Given the description of an element on the screen output the (x, y) to click on. 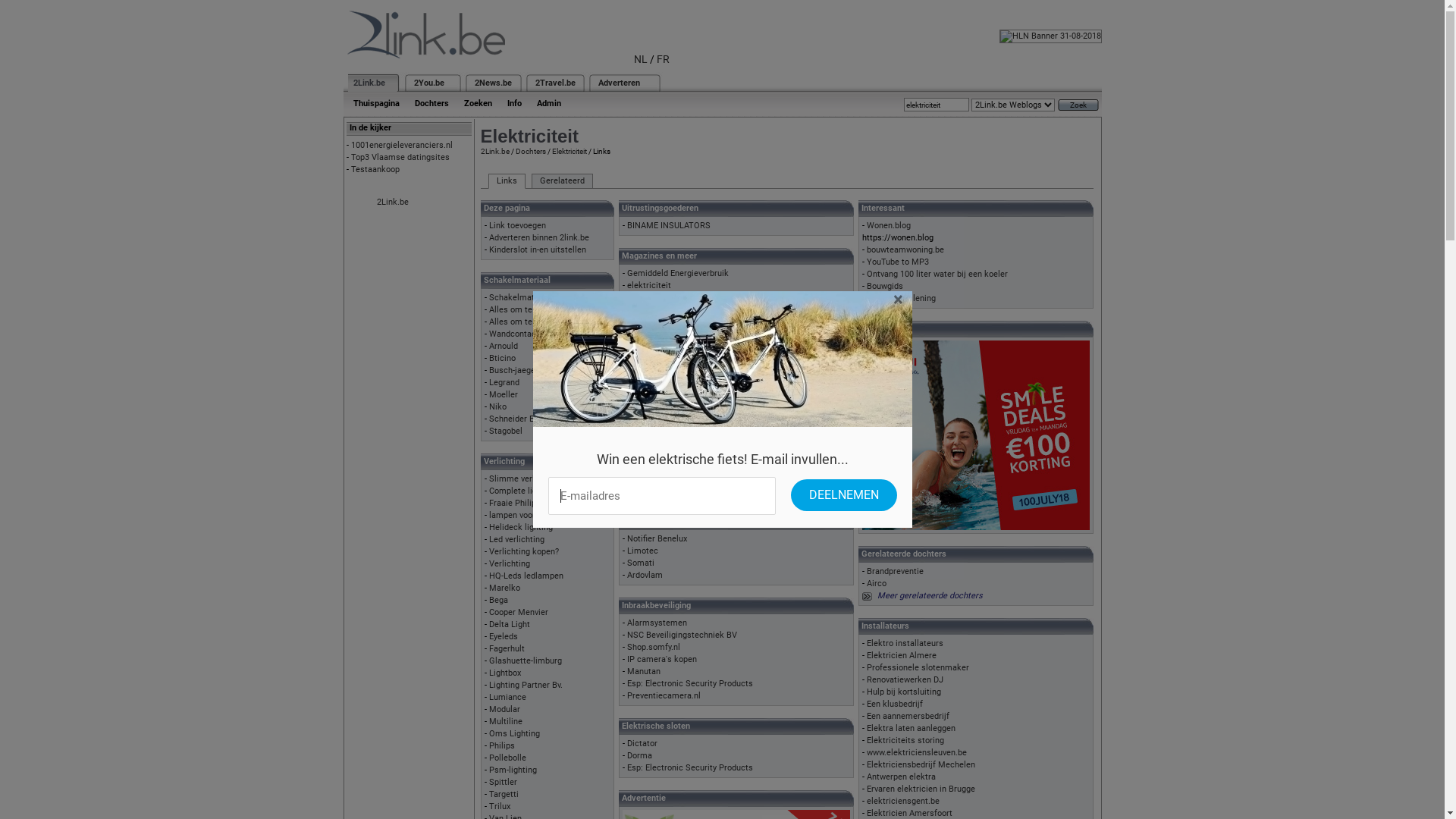
2News.be Element type: text (492, 82)
Dictator Element type: text (641, 743)
Bega Element type: text (497, 600)
2Travel.be Element type: text (555, 82)
Glashuette-limburg Element type: text (524, 660)
Link toevoegen Element type: text (516, 225)
Esp: Electronic Security Products Element type: text (689, 683)
2Link.be Element type: text (494, 151)
Top3 Vlaamse datingsites Element type: text (399, 157)
YouTube to MP3 Element type: text (897, 261)
Fraaie Philips Hue lampen Element type: text (537, 503)
Novy Element type: text (635, 478)
Ardovlam Element type: text (644, 575)
Lumiance Element type: text (506, 697)
Notifier Benelux Element type: text (656, 538)
Multiline Element type: text (504, 721)
Slimme verlichting Element type: text (523, 478)
Adverteren Element type: text (618, 82)
Bticino Element type: text (501, 358)
Cooper Menvier Element type: text (517, 612)
Miele Element type: text (636, 466)
Wasmachinespot.nl Element type: text (663, 369)
Hifi Speakers Element type: text (651, 406)
elektrische bbq Element type: text (655, 418)
Thuispagina Element type: text (376, 103)
2Link.be Element type: text (369, 82)
Philips Element type: text (501, 745)
Airco Element type: text (875, 583)
Bosch Element type: text (637, 454)
Een klusbedrijf Element type: text (894, 704)
Helideck lighting Element type: text (520, 527)
Psm-lighting Element type: text (512, 770)
Testaankoop Element type: text (374, 169)
Shop.somfy.nl Element type: text (652, 647)
Info Element type: text (513, 103)
Elektro.be Element type: text (645, 297)
Antwerpen elektra Element type: text (900, 776)
Renovatiewerken DJ Element type: text (904, 679)
Stagobel Element type: text (504, 431)
Spittler Element type: text (502, 782)
Dochters Element type: text (530, 151)
Elektricien Almere Element type: text (900, 655)
Esp: Electronic Security Products Element type: text (689, 767)
Preventiecamera.nl Element type: text (662, 695)
Zoeken Element type: text (477, 103)
bouwteamwoning.be Element type: text (904, 249)
Pollebolle Element type: text (506, 757)
Targetti Element type: text (502, 794)
Elektuur Element type: text (641, 309)
Trilux Element type: text (498, 806)
BINAME INSULATORS Element type: text (667, 225)
Professionele slotenmaker Element type: text (917, 667)
Wonen.blog Element type: text (888, 225)
lampen voor onder overkapping Element type: text (546, 515)
Elektriciensbedrijf Mechelen Element type: text (920, 764)
www.elektriciensleuven.be Element type: text (916, 752)
Alarmsystemen Element type: text (656, 622)
Verlichting kopen? Element type: text (523, 551)
Adverteren binnen 2link.be Element type: text (538, 237)
Bouwgids Element type: text (884, 286)
Dochters Element type: text (430, 103)
Wandcontactdozen met USB Element type: text (542, 333)
Marelko Element type: text (503, 588)
2Link.be Element type: text (391, 202)
Schneider Electric Element type: text (522, 418)
Ontvang 100 liter water bij een koeler Element type: text (936, 274)
Modular Element type: text (503, 709)
Manutan Element type: text (642, 671)
Schakelmateriaal bestellen Element type: text (540, 297)
Smeg Element type: text (637, 490)
Elektriciteit Element type: text (569, 151)
Elektricien Amersfoort Element type: text (908, 813)
Brandpreventie Element type: text (894, 571)
Fagerhult Element type: text (506, 648)
Aeg Electrolux Element type: text (653, 442)
Zoek Element type: text (1077, 103)
Best gekozen elektronica Element type: text (673, 357)
Delta Light Element type: text (508, 624)
Admin Element type: text (548, 103)
Gerelateerd Element type: text (561, 180)
IP camera's kopen Element type: text (661, 659)
HQ-Leds ledlampen Element type: text (525, 575)
Eyeleds Element type: text (502, 636)
Elektriciteits storing Element type: text (904, 740)
Arnould Element type: text (502, 346)
NSC Beveiligingstechniek BV Element type: text (681, 635)
Niko Element type: text (496, 406)
Hulp bij kortsluiting Element type: text (903, 691)
Verlichting Element type: text (508, 563)
2You.be Element type: text (429, 82)
Dorma Element type: text (638, 755)
Somati Element type: text (639, 562)
Busch-jaeger Element type: text (512, 370)
Kinderslot in-en uitstellen Element type: text (536, 249)
Robotstofzuigers Element type: text (658, 393)
Links Element type: text (506, 180)
Alles om te schakelen Element type: text (530, 321)
Elektra laten aanleggen Element type: text (910, 728)
Alles om te schakelen Element type: text (530, 309)
Moeller Element type: text (502, 394)
Elektro installateurs Element type: text (904, 643)
Miele Rotterdam Element type: text (658, 430)
Pluizentondeuses Element type: text (659, 381)
elektriciensgent.be Element type: text (902, 801)
Limotec Element type: text (641, 550)
Gemiddeld Energieverbruik Element type: text (677, 273)
Een aannemersbedrijf Element type: text (907, 716)
Lighting Partner Bv. Element type: text (524, 685)
FR Element type: text (662, 59)
Lightbox Element type: text (504, 672)
Ervaren elektricien in Brugge Element type: text (920, 788)
Led verlichting Element type: text (515, 539)
NL Element type: text (640, 59)
Complete lichtsets Element type: text (524, 490)
Legrand Element type: text (503, 382)
Oms Lighting Element type: text (513, 733)
Bereken uw lening Element type: text (900, 298)
1001energieleveranciers.nl Element type: text (400, 145)
elektriciteit Element type: text (648, 285)
Meer gerelateerde dochters Element type: text (929, 595)
